Given the description of an element on the screen output the (x, y) to click on. 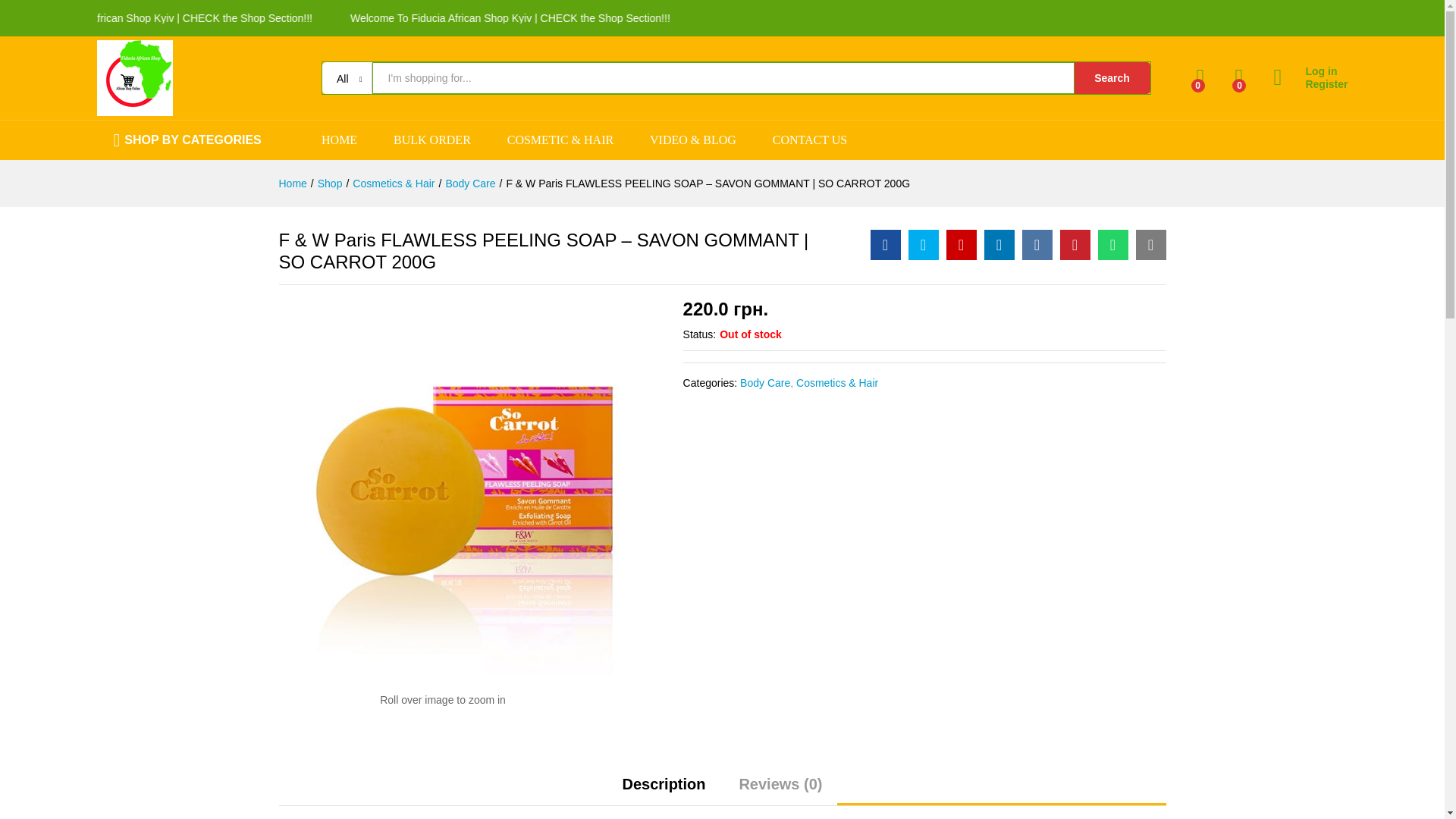
0 (1200, 77)
0 (1238, 77)
Search (1112, 78)
Log in (1310, 71)
Shop (329, 183)
CONTACT US (810, 140)
HOME (338, 140)
Register (1310, 83)
Body Care (470, 183)
Home (293, 183)
BULK ORDER (431, 140)
